Given the description of an element on the screen output the (x, y) to click on. 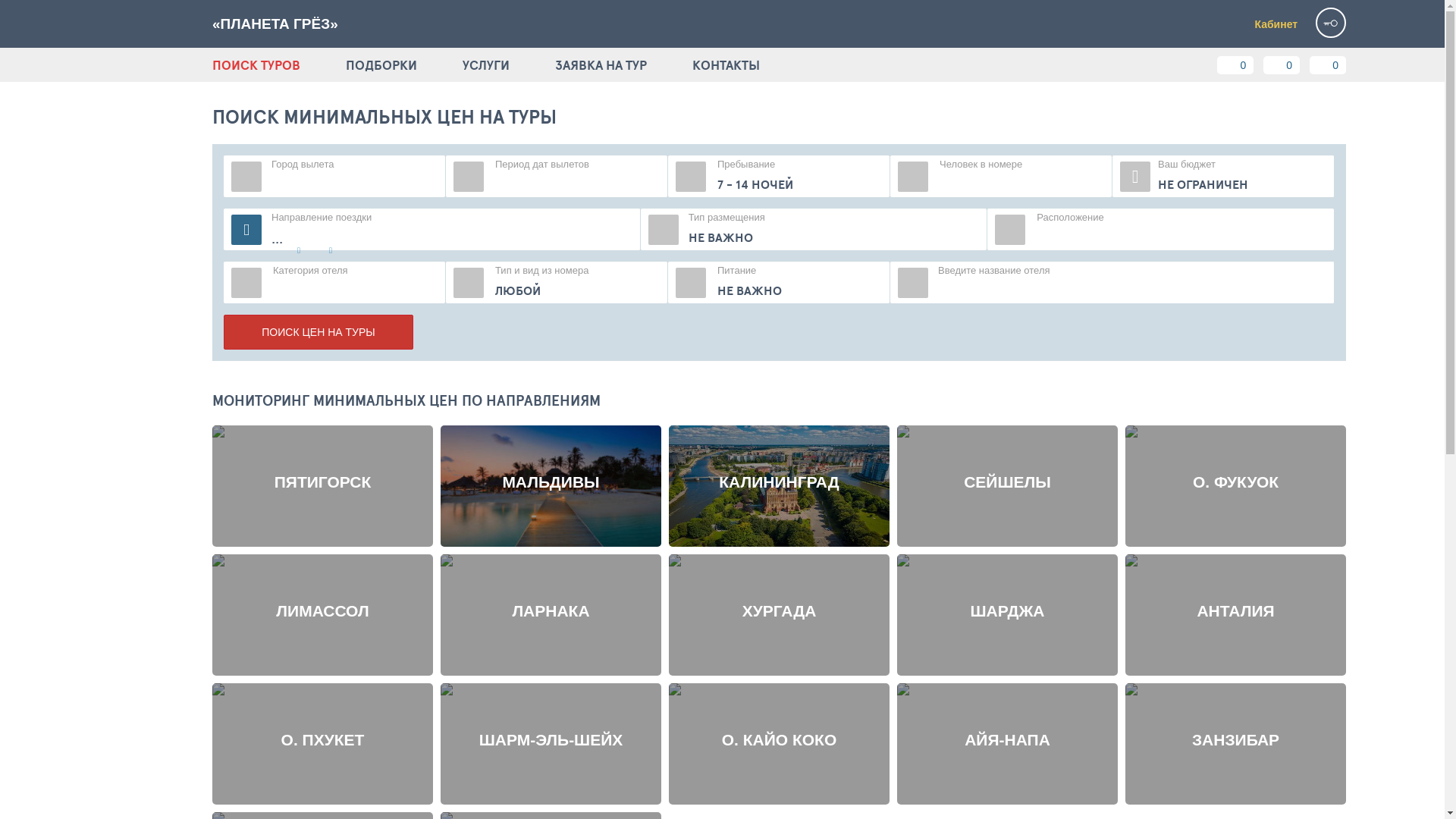
0 Element type: text (1235, 65)
0 Element type: text (1327, 65)
0 Element type: text (1281, 65)
